Given the description of an element on the screen output the (x, y) to click on. 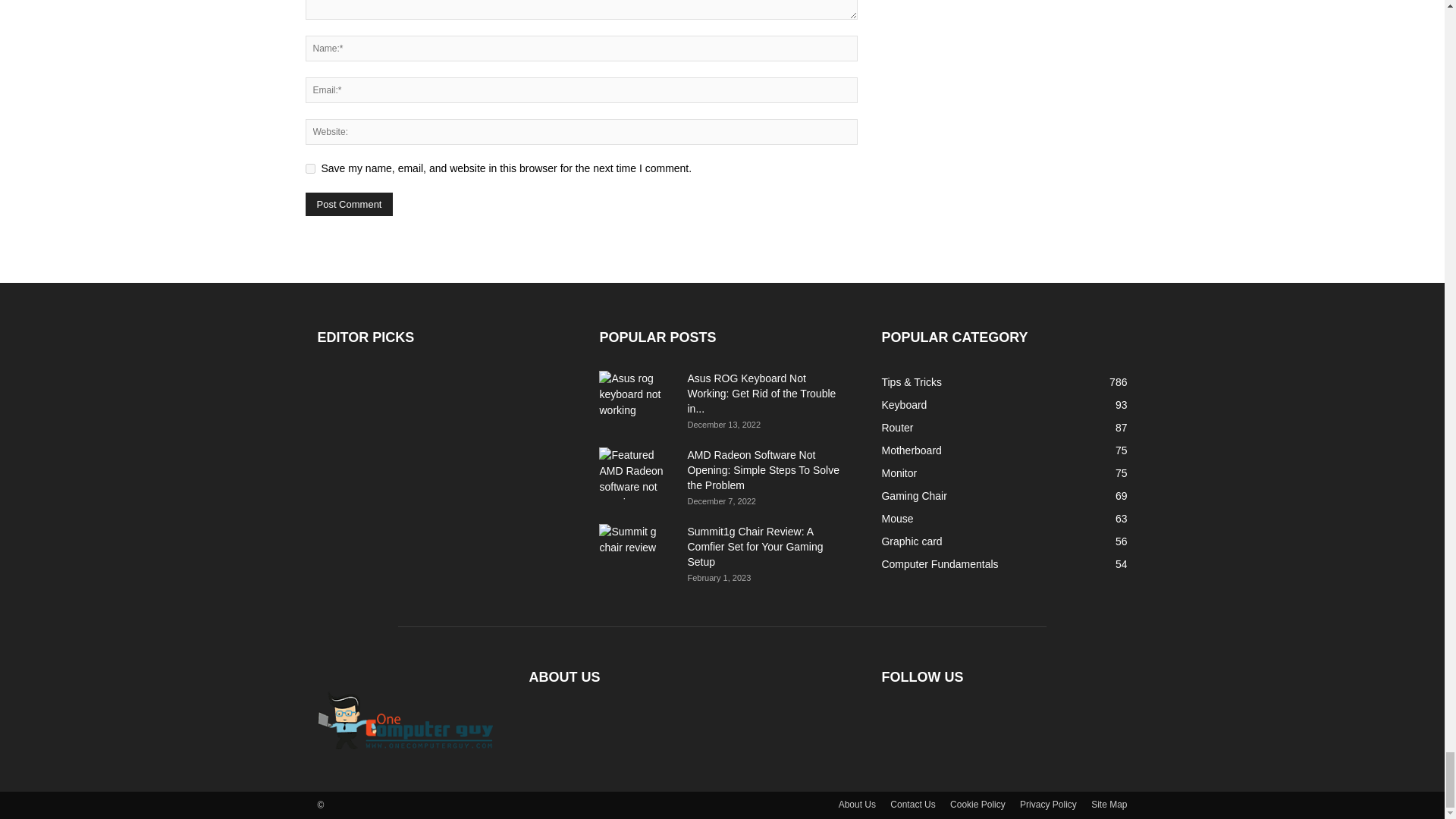
Post Comment (348, 204)
yes (309, 168)
